Given the description of an element on the screen output the (x, y) to click on. 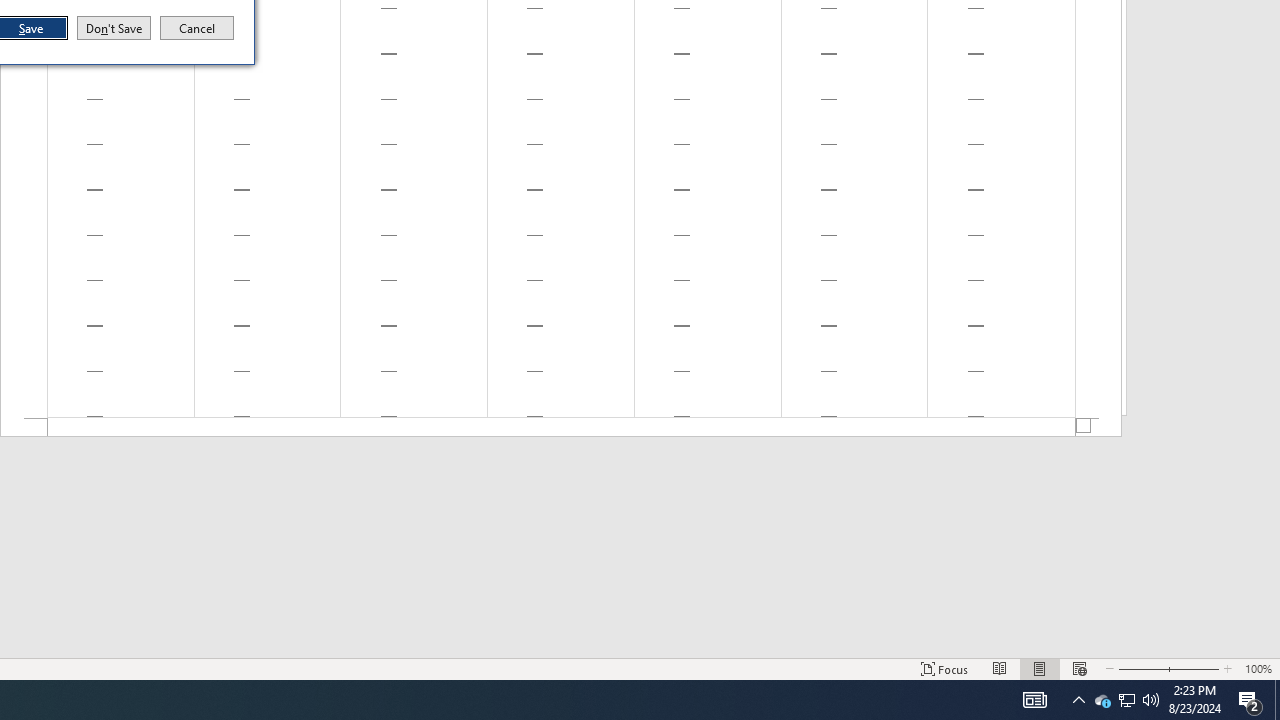
Q2790: 100% (1151, 699)
Zoom In (1195, 668)
Action Center, 2 new notifications (1250, 699)
Show desktop (1277, 699)
Zoom Out (1102, 699)
Cancel (1142, 668)
